Given the description of an element on the screen output the (x, y) to click on. 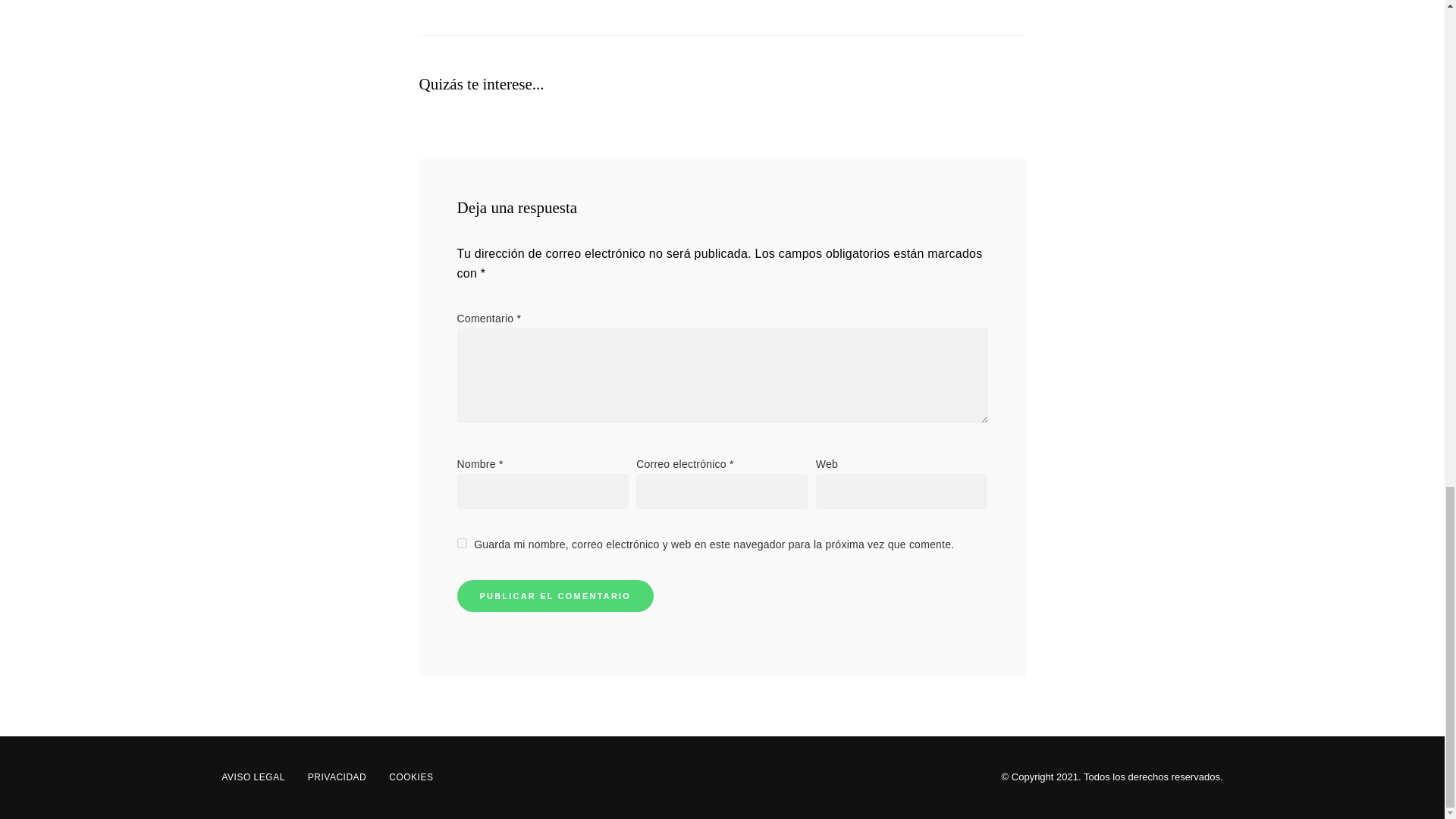
yes (461, 542)
COOKIES (410, 777)
PRIVACIDAD (337, 777)
Publicar el comentario (555, 595)
AVISO LEGAL (254, 777)
Publicar el comentario (555, 595)
